Given the description of an element on the screen output the (x, y) to click on. 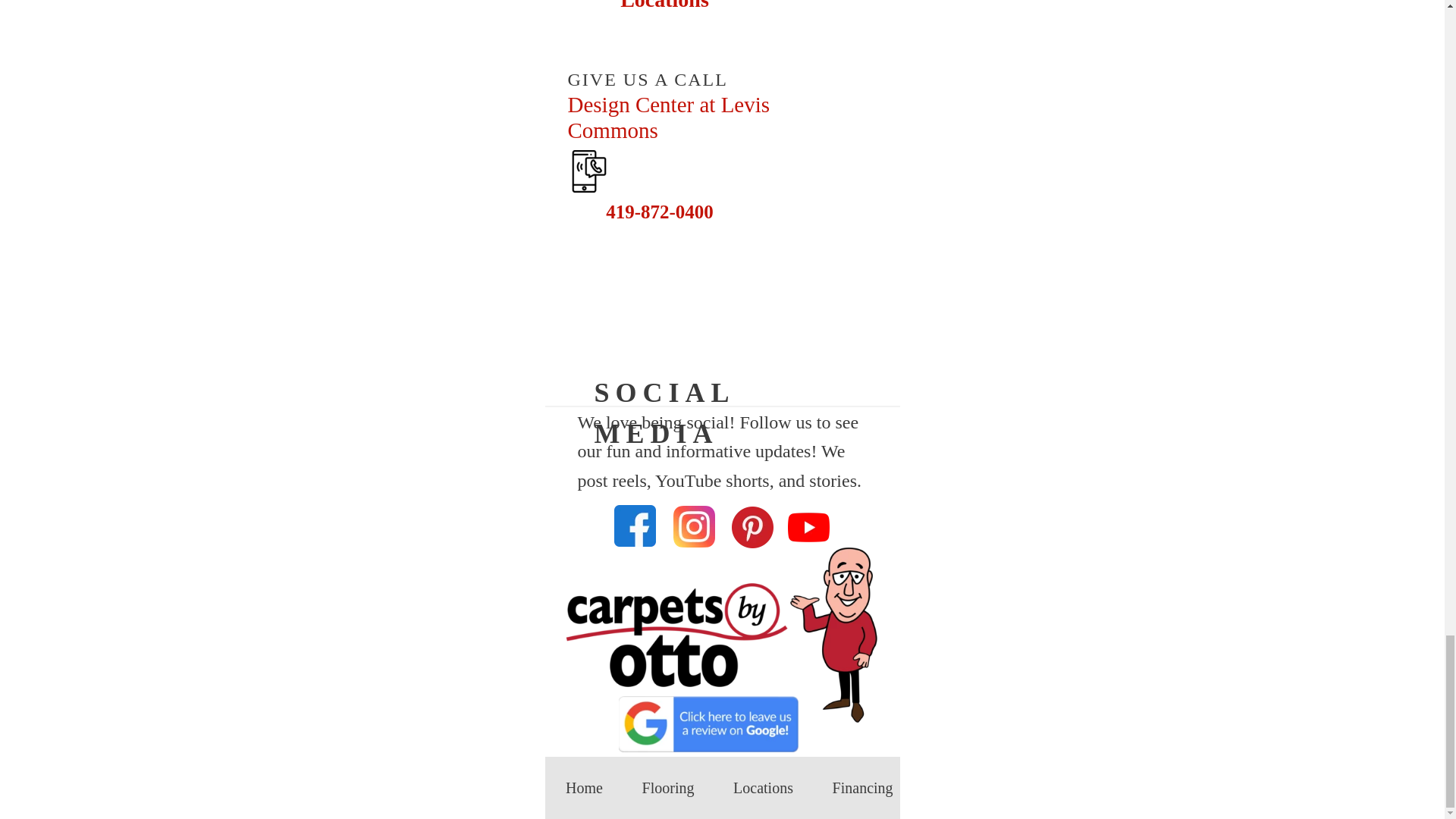
Design Center at Levis Commons (710, 118)
Flooring (668, 788)
419-872-0400 (643, 211)
Home (583, 788)
Locations (648, 10)
Financing (862, 788)
Locations (763, 788)
